Given the description of an element on the screen output the (x, y) to click on. 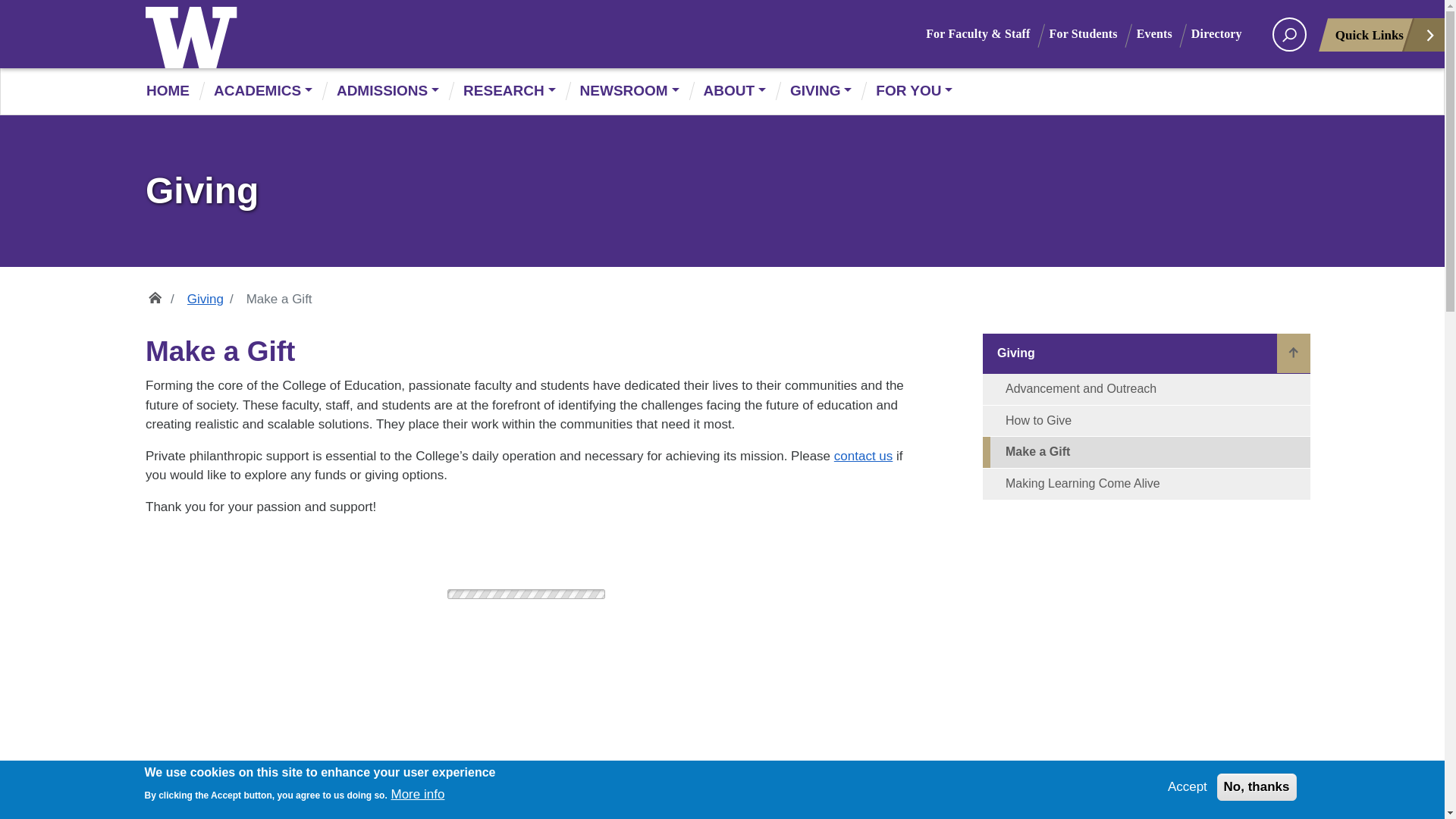
HOME (174, 91)
University of Washington Home (194, 33)
UW College of Education (384, 33)
University of Washington (194, 33)
Directory (1225, 33)
ACADEMICS (263, 91)
Events (1164, 33)
For Students (1093, 33)
UW College of Education Homepage (384, 33)
ADMISSIONS (387, 91)
